Given the description of an element on the screen output the (x, y) to click on. 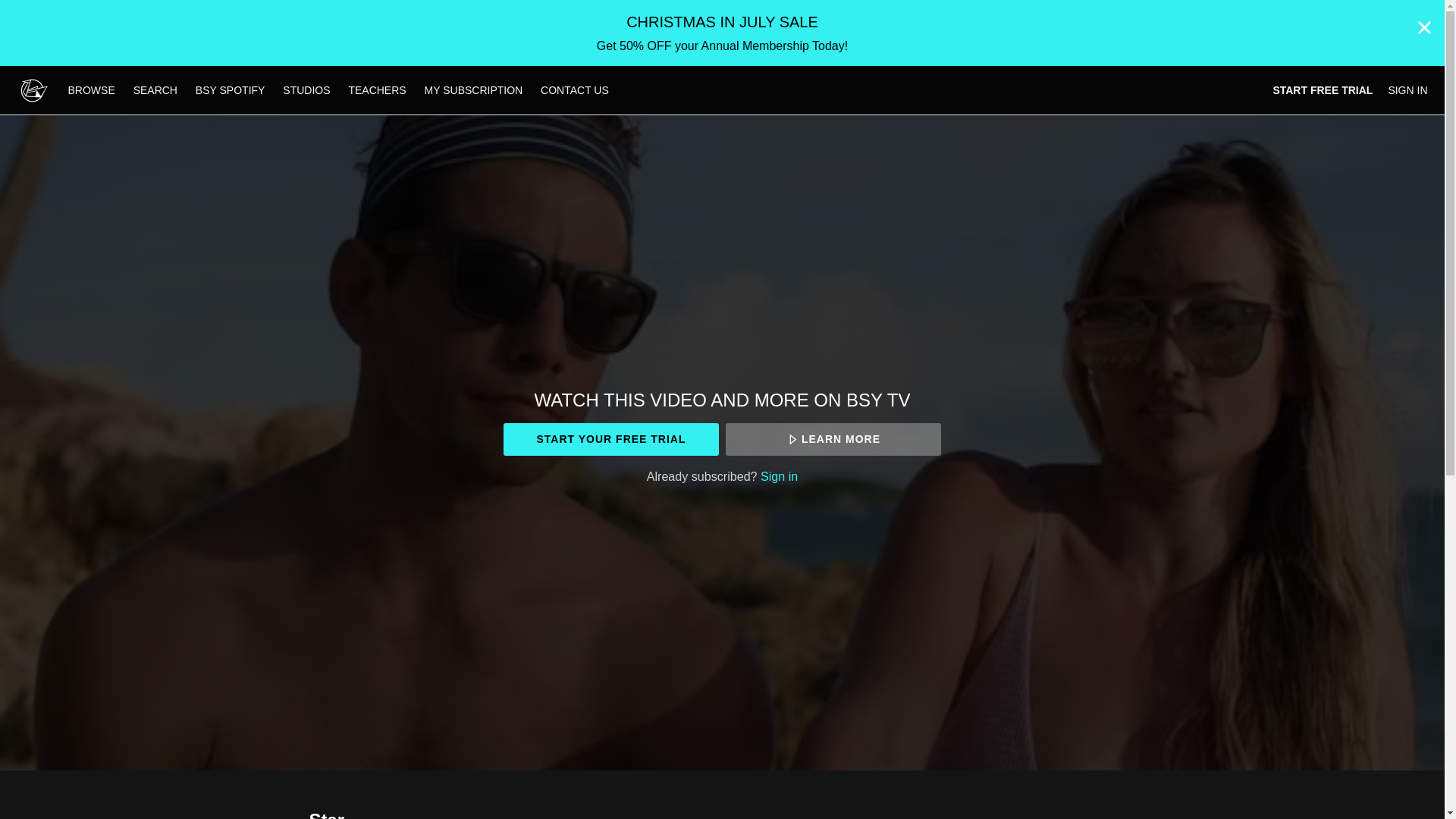
TEACHERS (376, 90)
START FREE TRIAL (1322, 90)
CONTACT US (573, 90)
SIGN IN (1406, 90)
START YOUR FREE TRIAL (610, 439)
MY SUBSCRIPTION (473, 90)
Sign in (778, 476)
LEARN MORE (832, 439)
SEARCH (156, 90)
Skip to main content (48, 7)
BROWSE (93, 90)
BSY SPOTIFY (230, 90)
STUDIOS (306, 90)
